Given the description of an element on the screen output the (x, y) to click on. 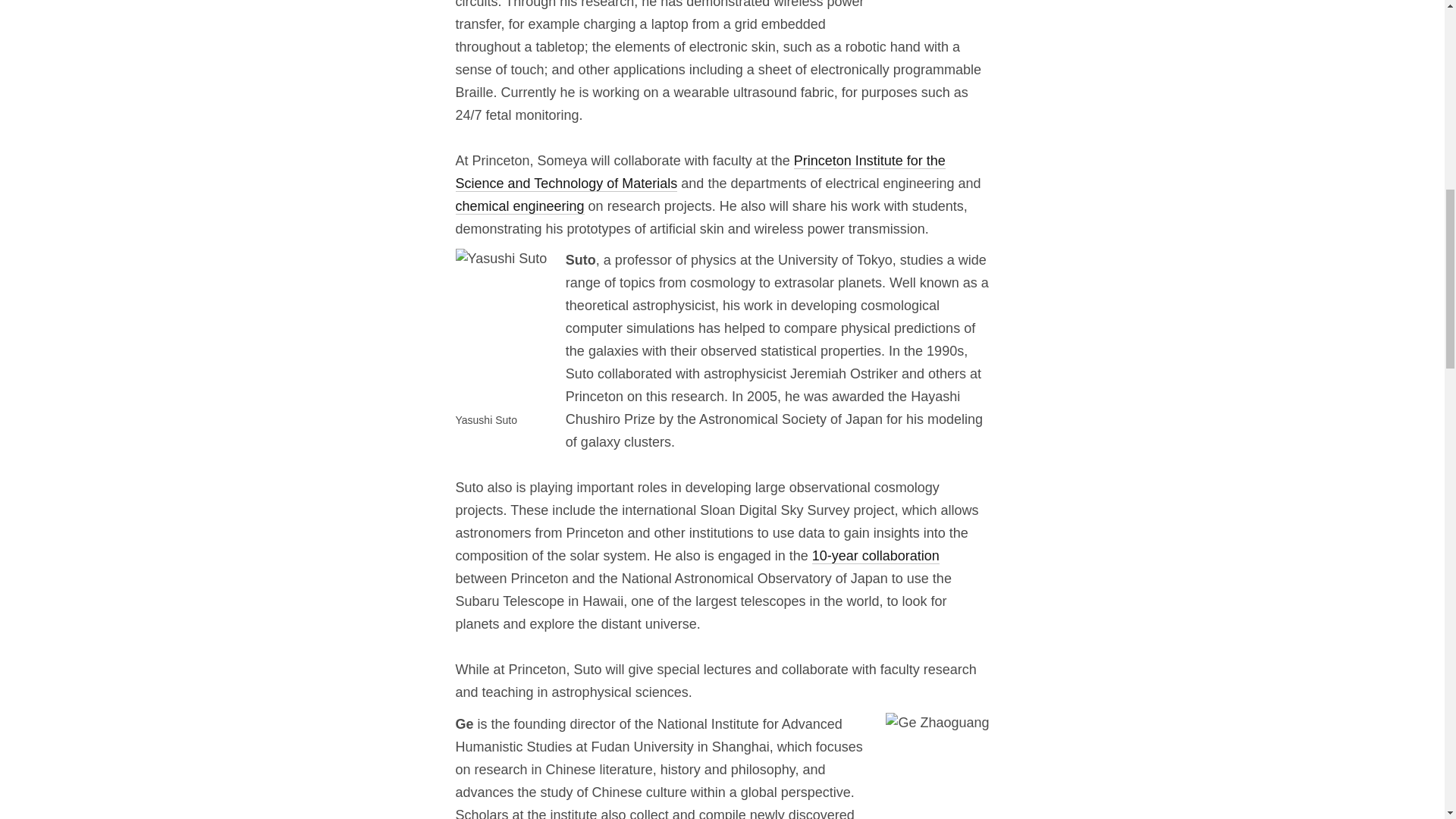
10-year collaboration (875, 555)
chemical engineering (518, 206)
